Given the description of an element on the screen output the (x, y) to click on. 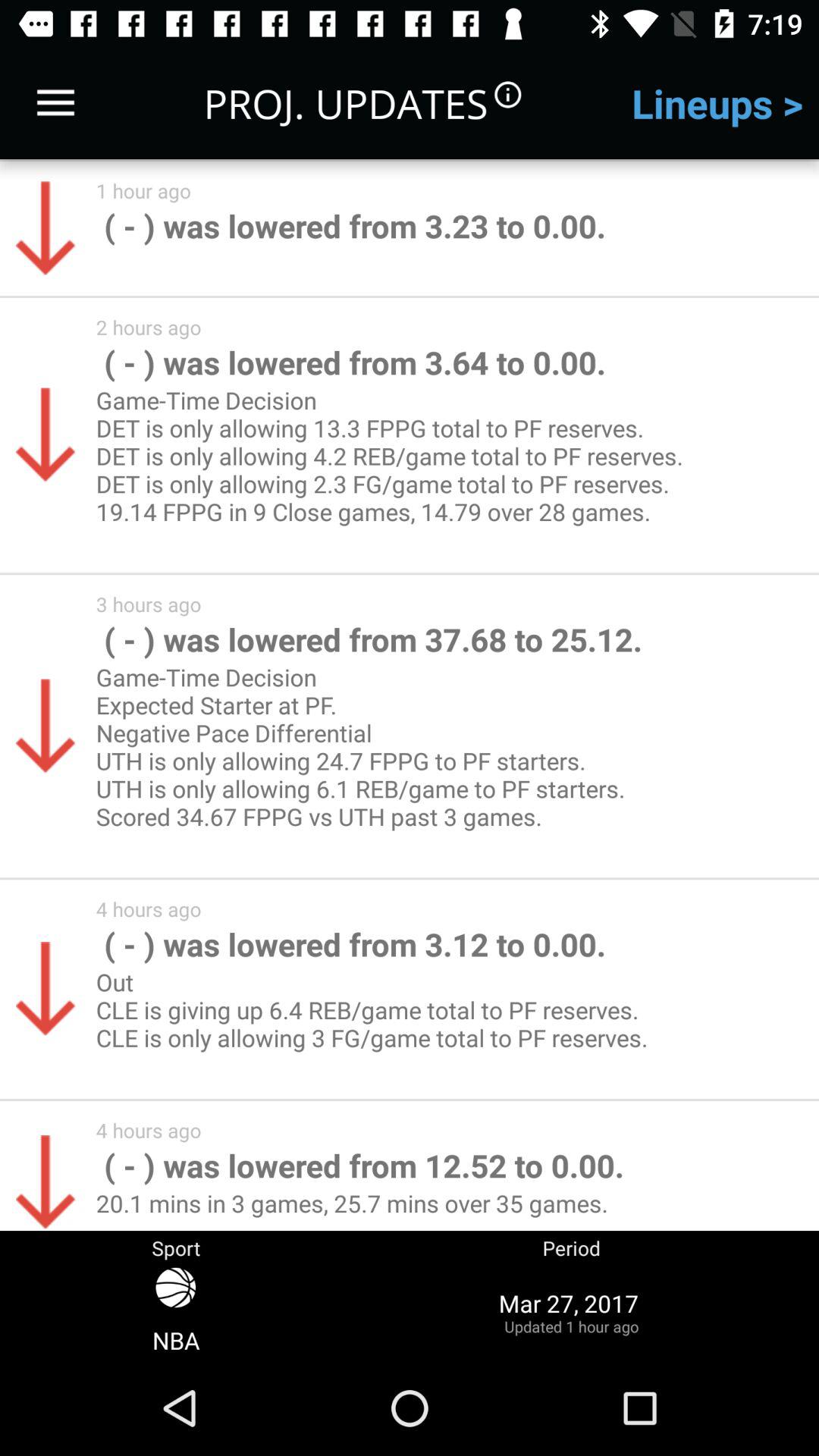
jump to the nba (175, 1311)
